Given the description of an element on the screen output the (x, y) to click on. 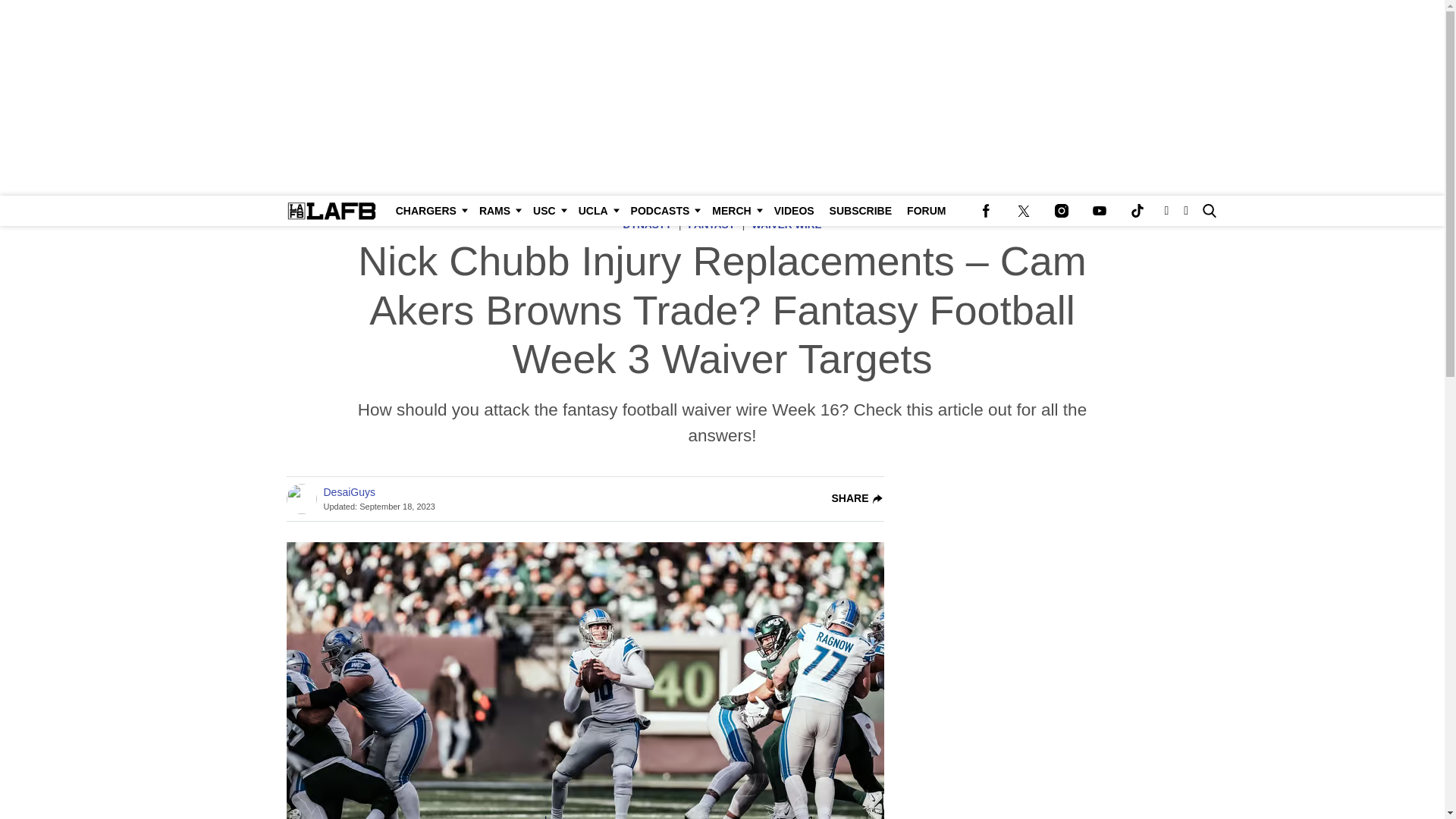
UCLA (596, 210)
Posts by DesaiGuys (348, 492)
CHARGERS (429, 210)
Follow us on Facebook (985, 210)
Follow us on Instagram (1061, 210)
Subscribe to our TikTok channel (1137, 210)
USC (547, 210)
Subscribe to our YouTube channel (1099, 210)
PODCASTS (663, 210)
RAMS (498, 210)
